Given the description of an element on the screen output the (x, y) to click on. 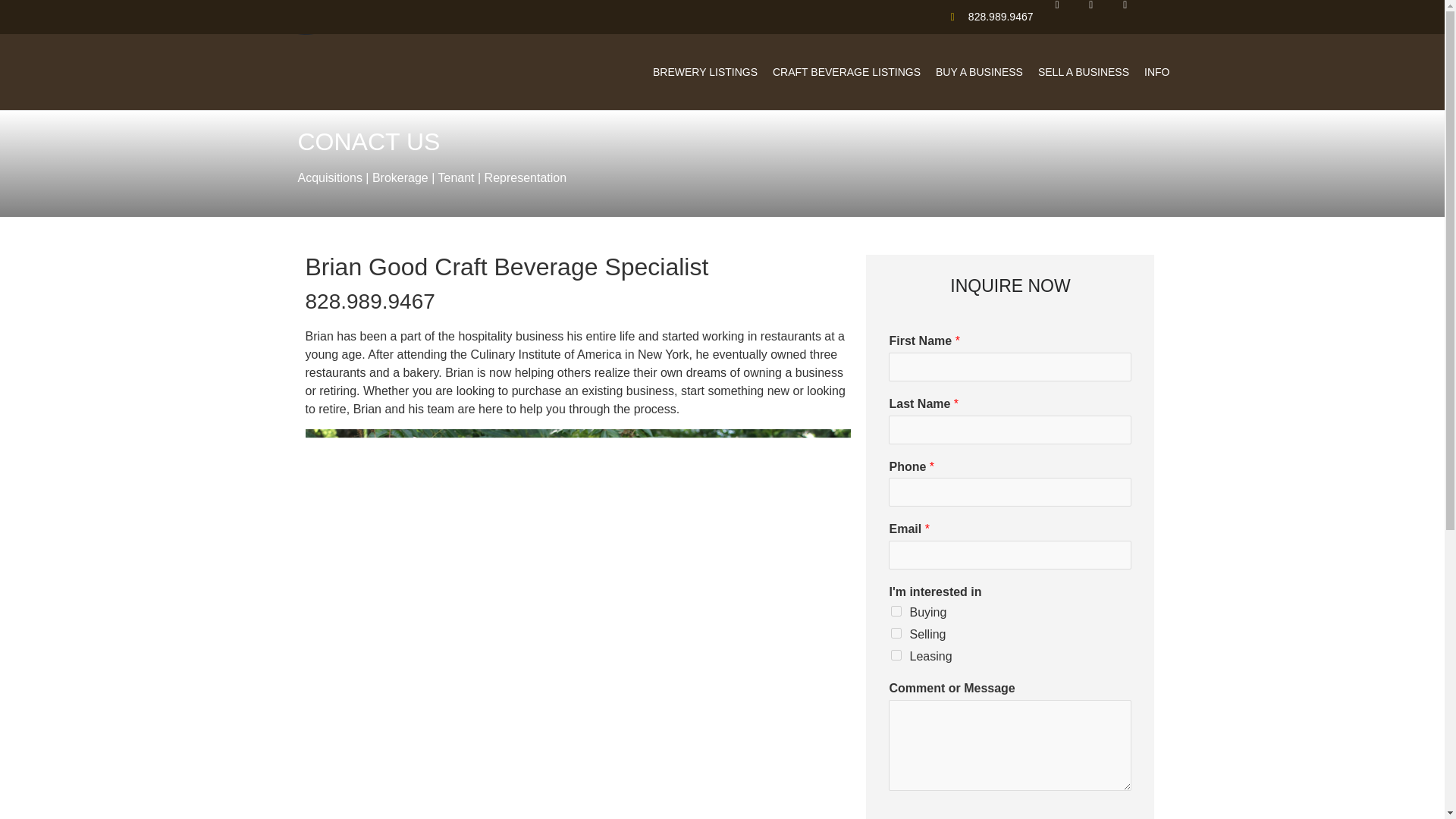
BUY A BUSINESS (979, 71)
Buying (896, 611)
Leasing (896, 655)
INFO (1156, 71)
BREWERY LISTINGS (705, 71)
SELL A BUSINESS (1083, 71)
828.989.9467 (986, 17)
CRAFT BEVERAGE LISTINGS (846, 71)
Selling (896, 633)
